Given the description of an element on the screen output the (x, y) to click on. 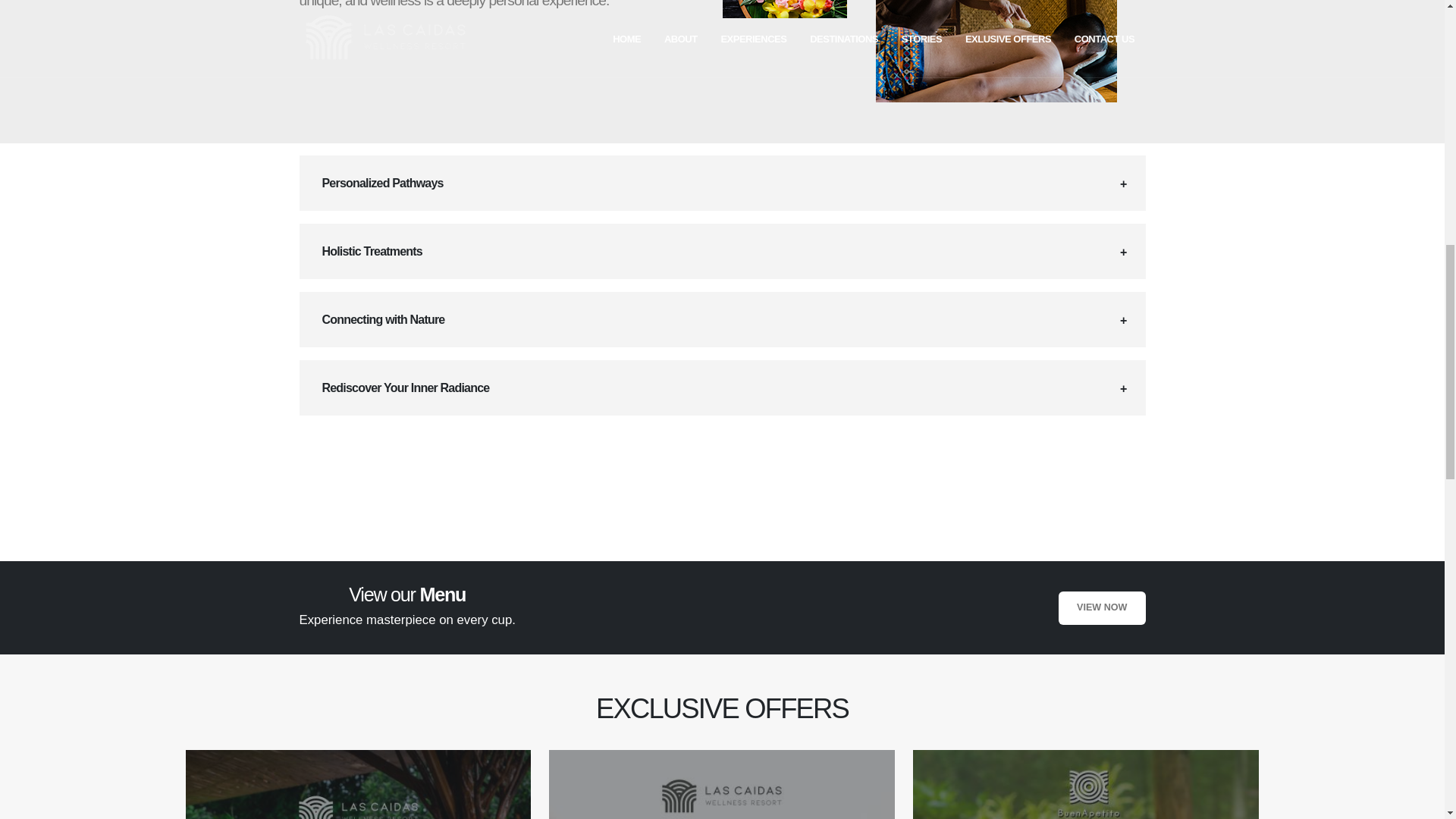
Connecting with Nature (721, 319)
Rediscover Your Inner Radiance (721, 387)
Holistic Treatments (721, 251)
Kanlungan sa Tag-Ulan (721, 784)
Personalized Pathways (721, 182)
VIEW NOW (1101, 607)
Wellness Weekend: Ashtanga and Yin Yang (357, 784)
Shabu-Shabu at BuenApetito Restaurante! (1085, 784)
